Given the description of an element on the screen output the (x, y) to click on. 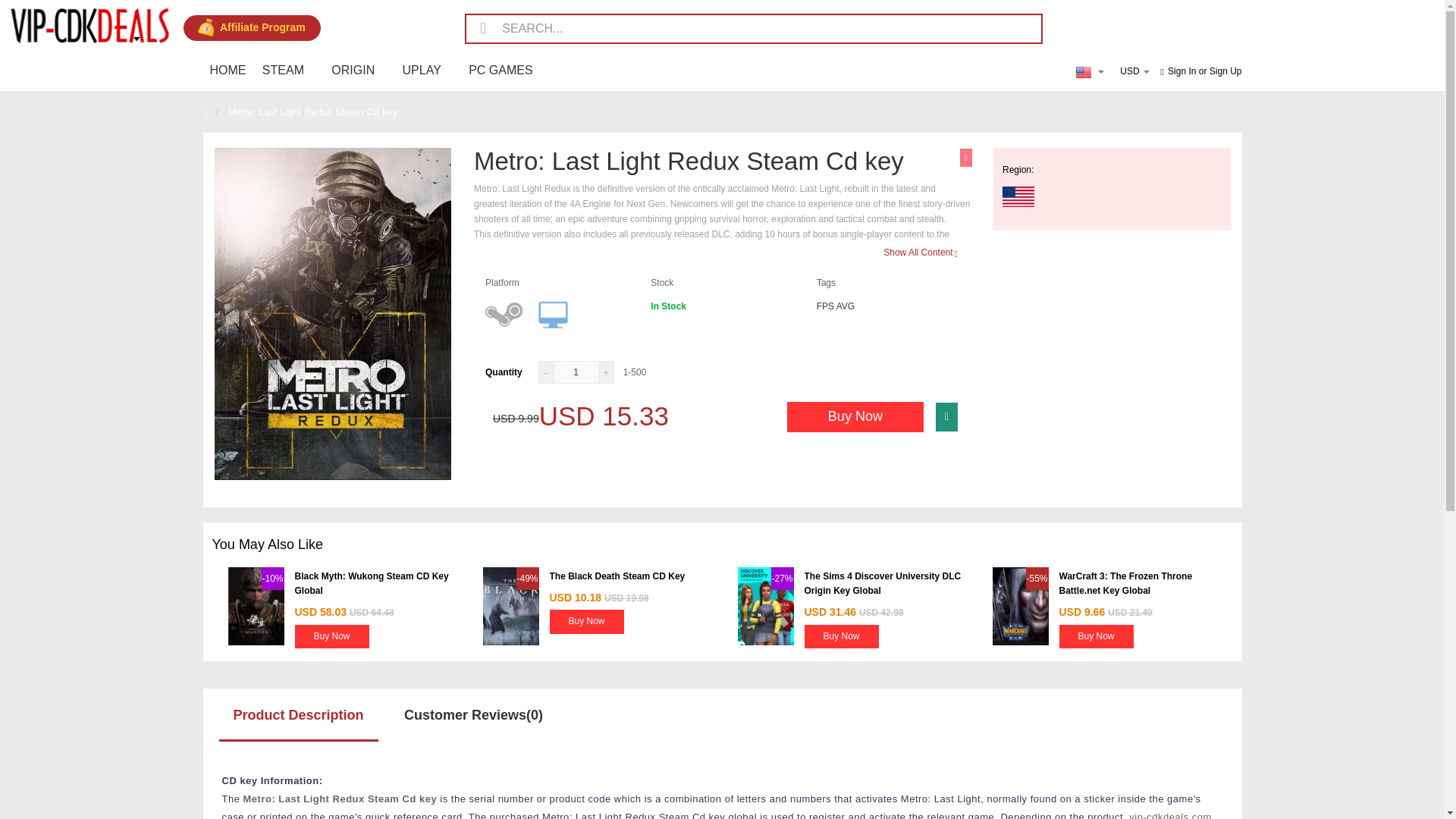
1 (575, 372)
HOME (227, 69)
vip-cdkdeals.com (1170, 815)
Sign In (1181, 71)
The Black Death Steam CD Key (616, 575)
Metro: Last Light Redux Steam Cd key (340, 798)
PC GAMES (500, 69)
STEAM (283, 69)
WarCraft 3: The Frozen Throne Battle.net Key Global (1125, 583)
STEAM (503, 314)
vip-cdkdeals (85, 24)
United States (1018, 196)
UPLAY (421, 69)
Sign Up (1225, 71)
ORIGIN (353, 69)
